Given the description of an element on the screen output the (x, y) to click on. 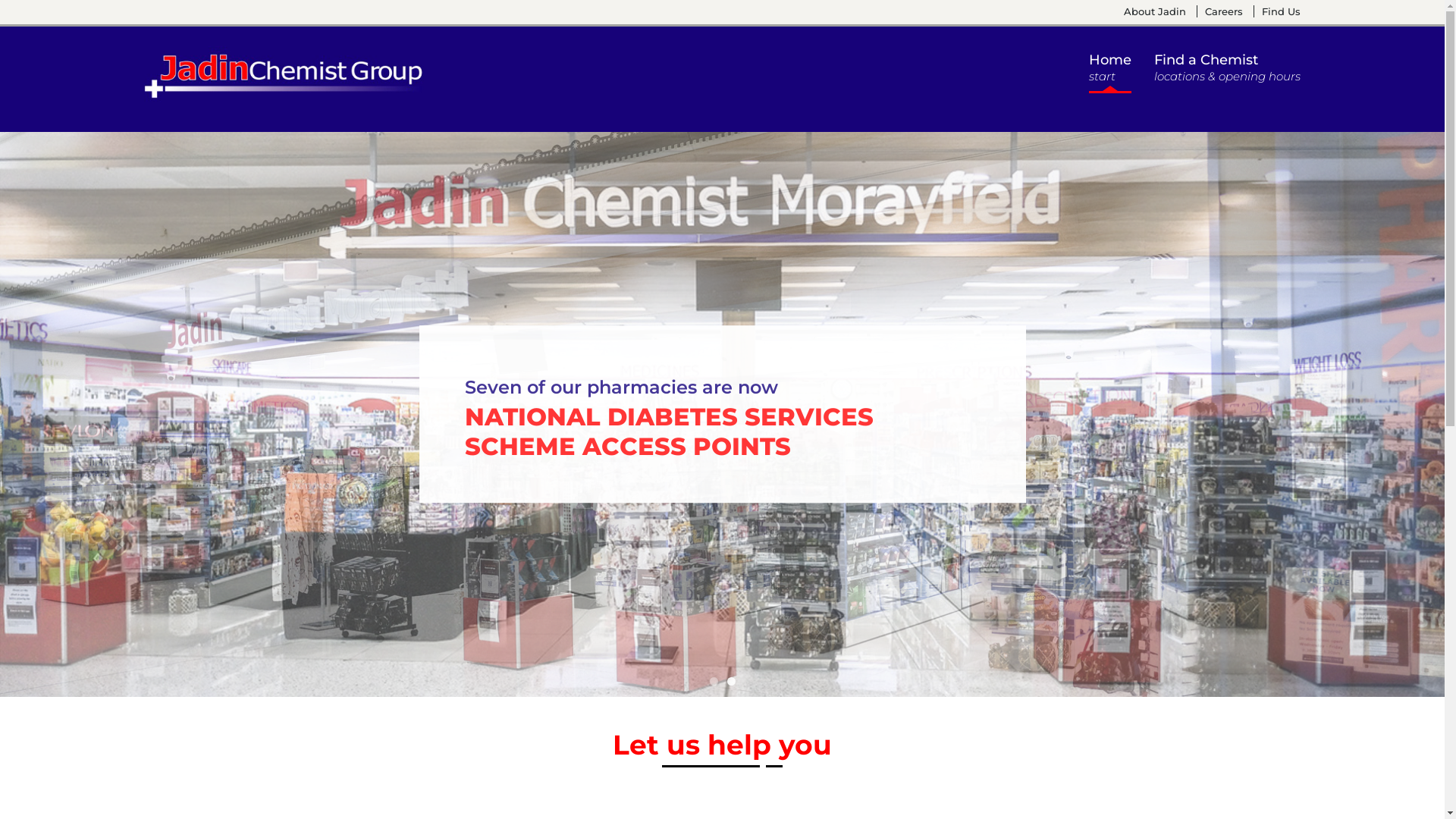
About Jadin Element type: text (1154, 11)
Careers Element type: text (1219, 11)
Find Us Element type: text (1276, 11)
banner1 Element type: hover (722, 413)
Find a Chemist
locations & opening hours Element type: text (1227, 71)
Home
start Element type: text (1109, 71)
2 Element type: text (730, 681)
1 Element type: text (713, 681)
